Given the description of an element on the screen output the (x, y) to click on. 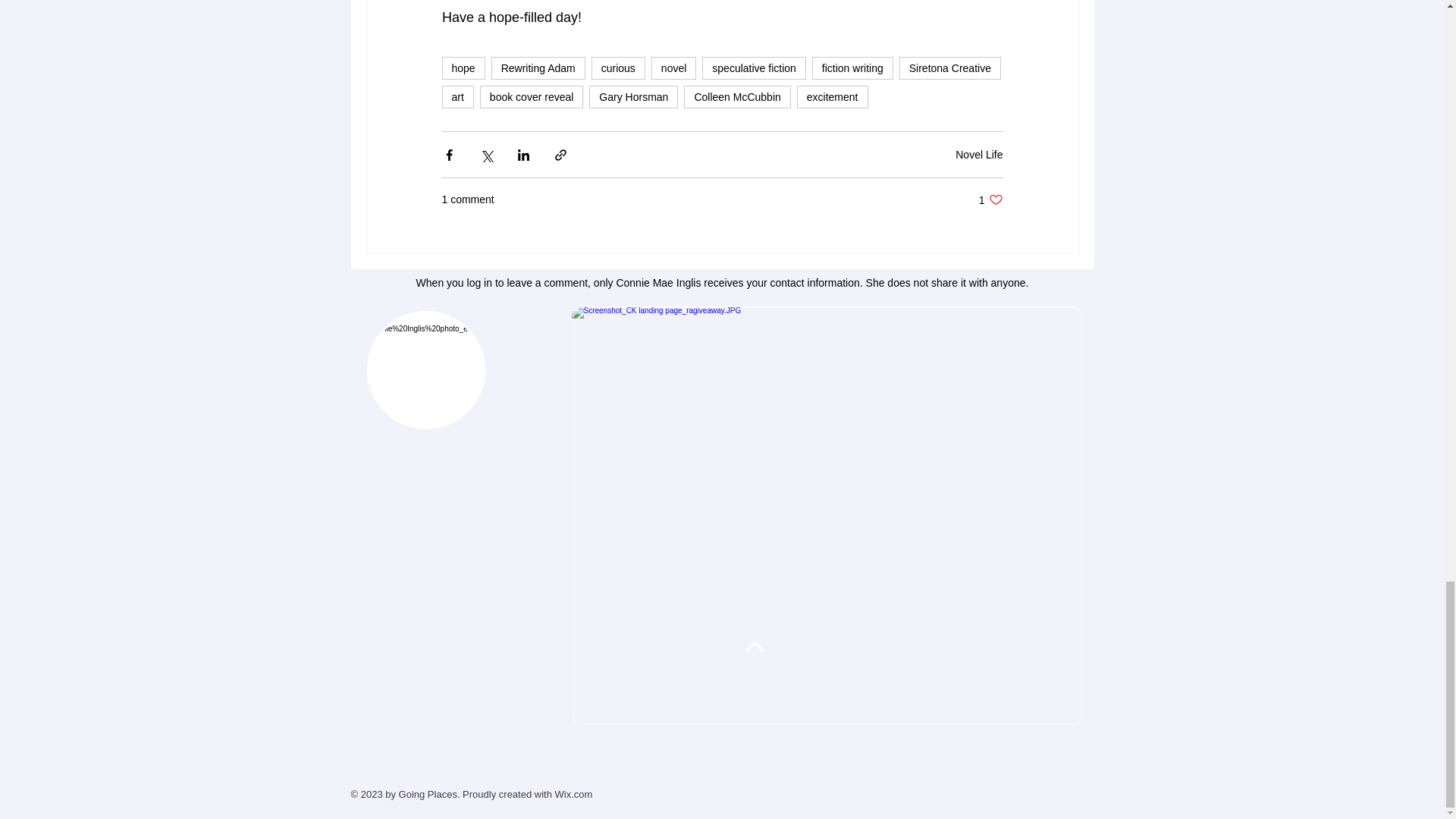
Novel Life (979, 154)
Gary Horsman (633, 96)
curious (618, 67)
fiction writing (852, 67)
Colleen McCubbin (737, 96)
book cover reveal (531, 96)
art (457, 96)
Rewriting Adam (990, 199)
hope (538, 67)
